Given the description of an element on the screen output the (x, y) to click on. 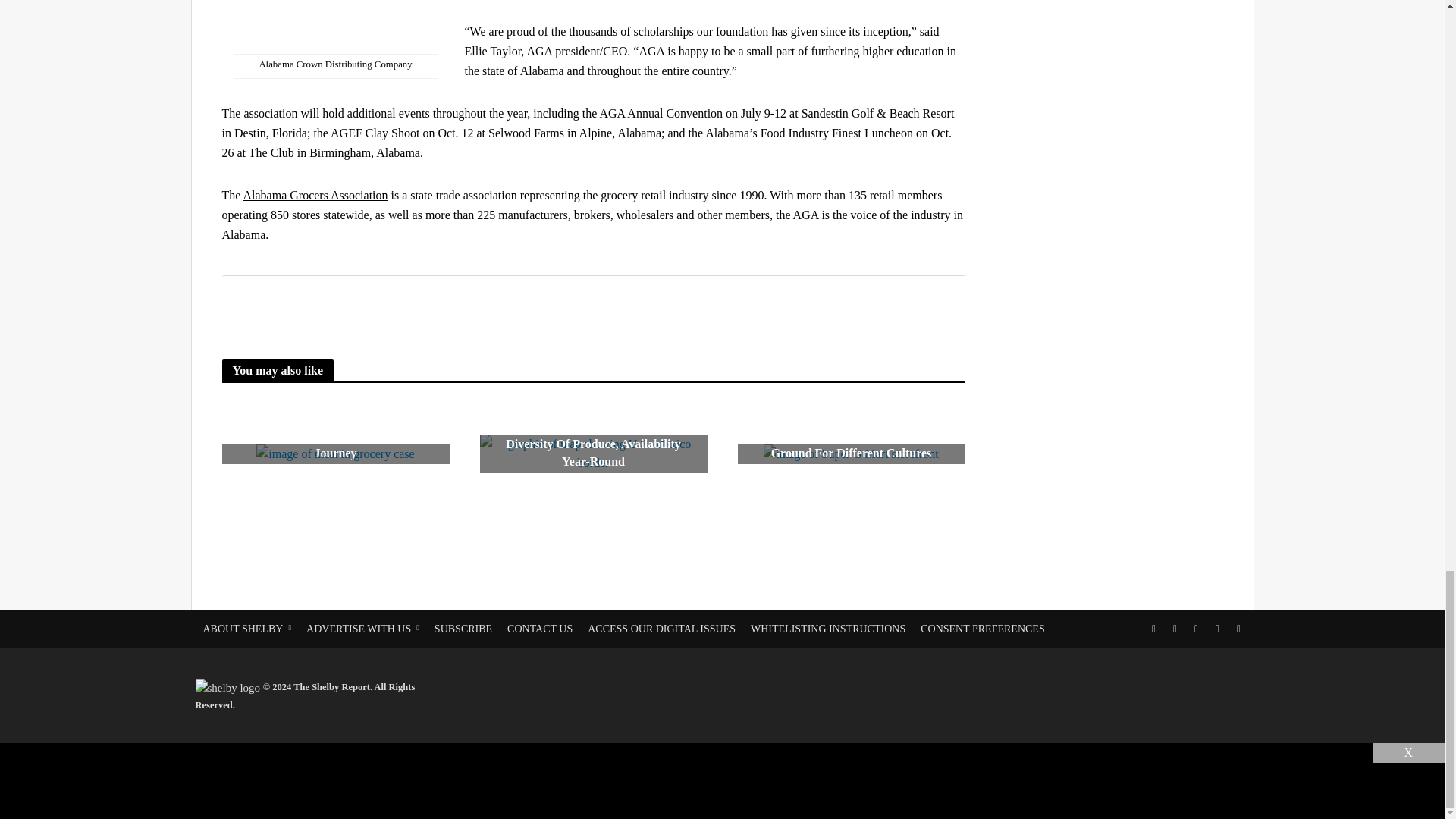
Mapping Out The Meat Consumer Journey (334, 453)
Super G Mart Serves As Meeting Ground For Different Cultures (849, 453)
